Given the description of an element on the screen output the (x, y) to click on. 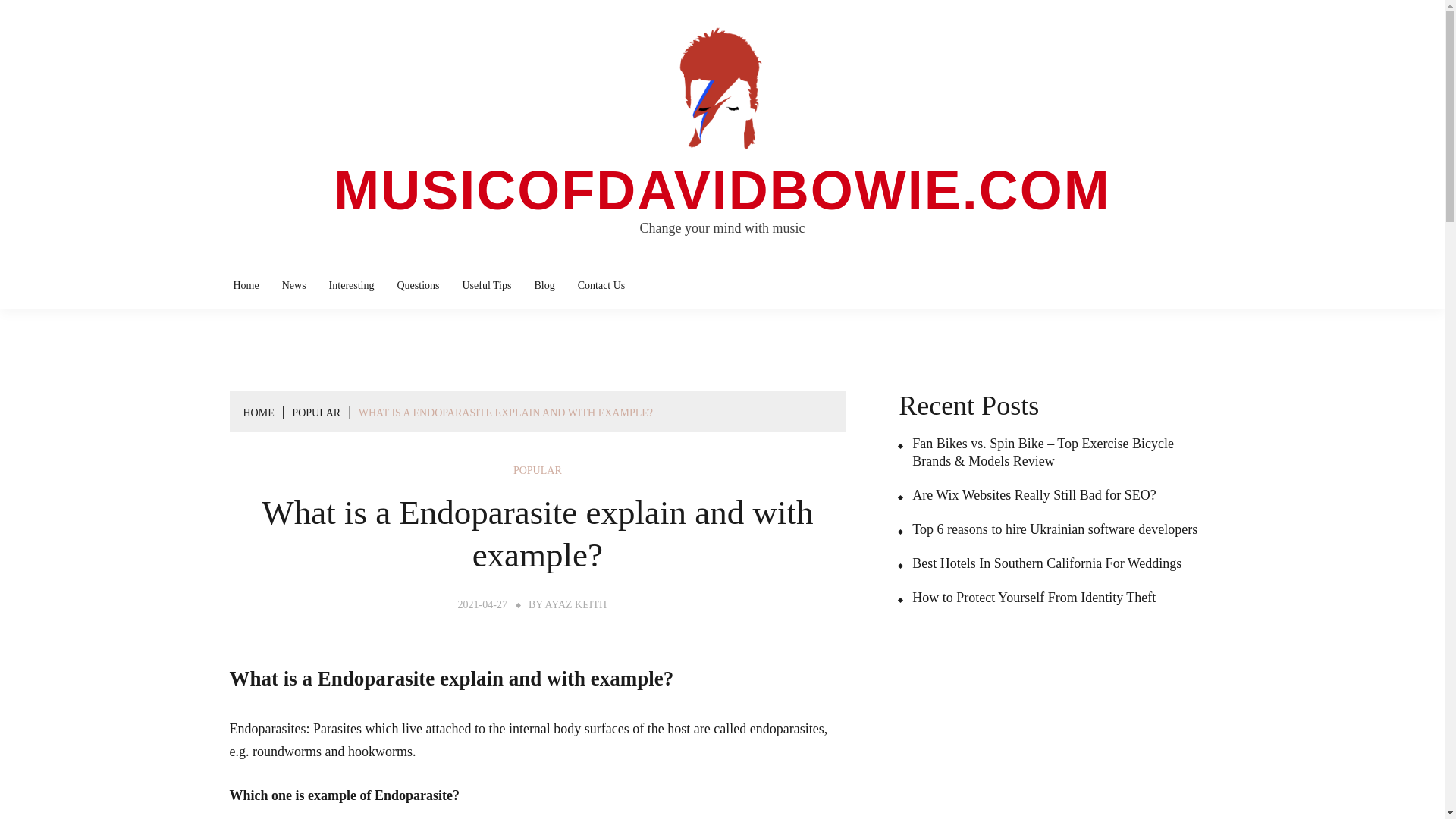
Interesting (351, 285)
Questions (417, 285)
Best Hotels In Southern California For Weddings (1039, 563)
Are Wix Websites Really Still Bad for SEO? (1027, 495)
MUSICOFDAVIDBOWIE.COM (721, 189)
WHAT IS A ENDOPARASITE EXPLAIN AND WITH EXAMPLE? (505, 412)
2021-04-27 (482, 604)
POPULAR (316, 412)
HOME (258, 412)
Contact Us (600, 285)
